Given the description of an element on the screen output the (x, y) to click on. 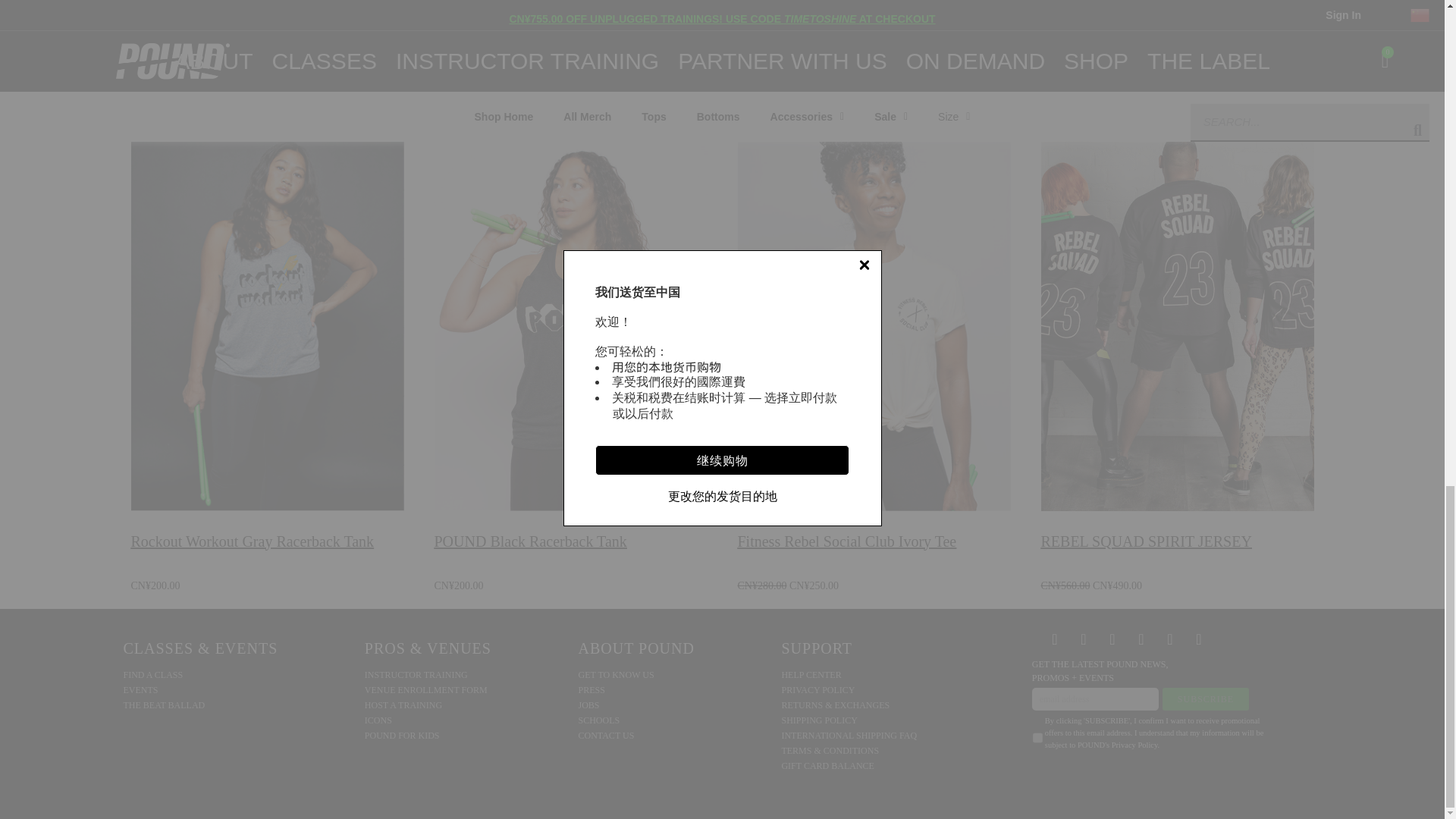
Subscribe (1205, 698)
